Given the description of an element on the screen output the (x, y) to click on. 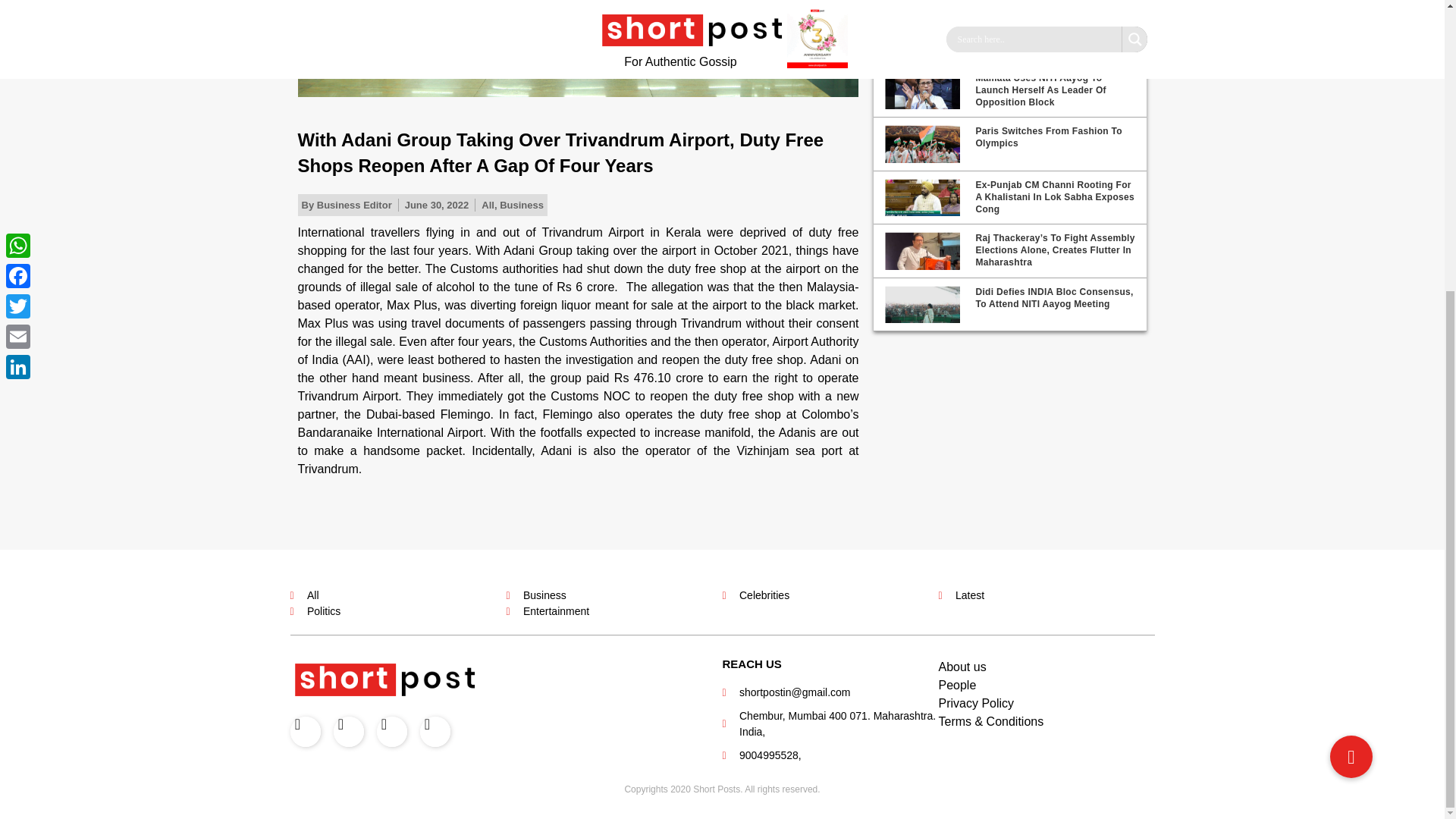
By Business Editor (346, 205)
Business (521, 204)
June 30, 2022 (436, 205)
All (488, 204)
